Given the description of an element on the screen output the (x, y) to click on. 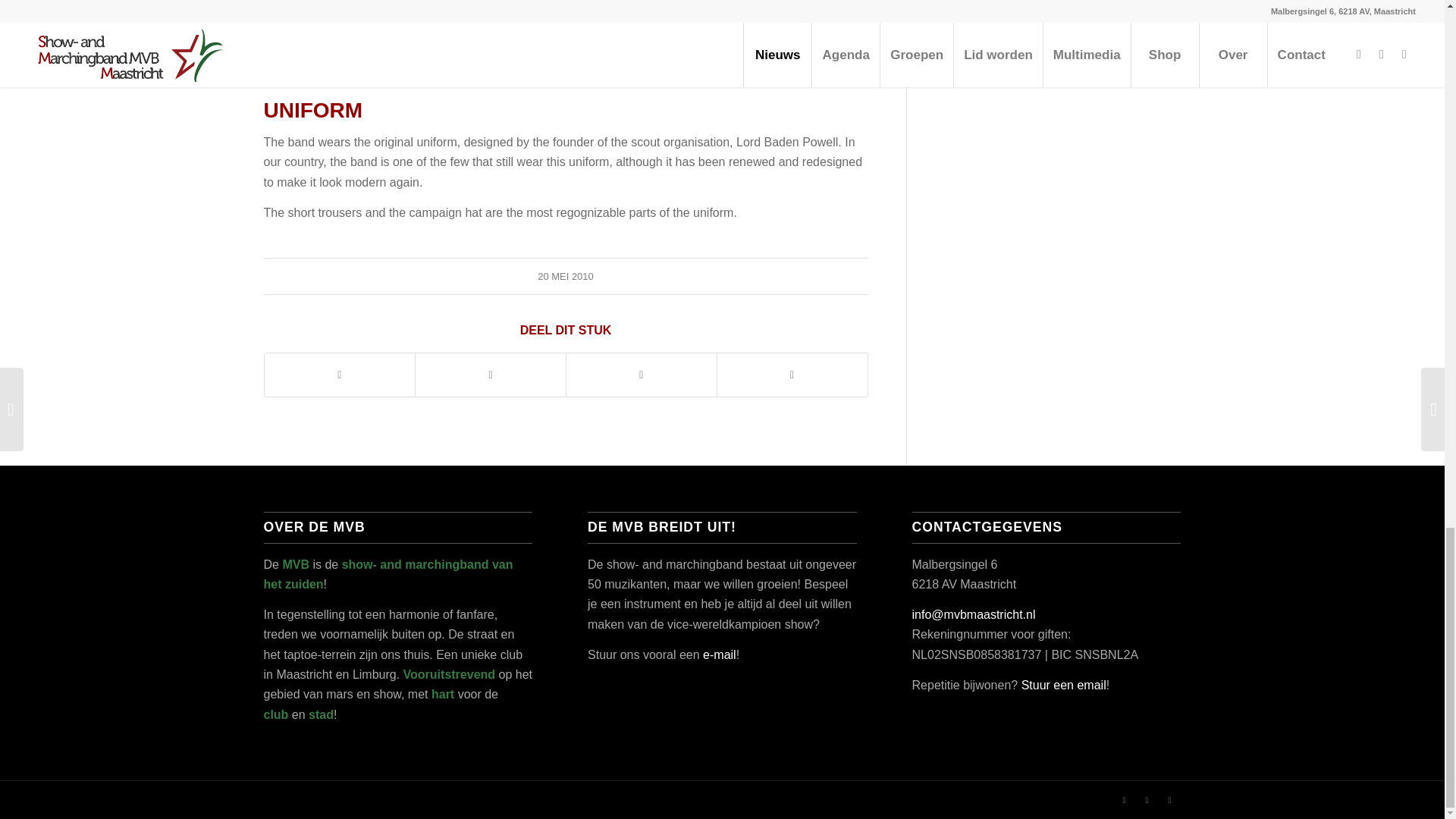
Facebook (1124, 799)
e-mail (719, 654)
Instagram (1146, 799)
Stuur een email (1064, 684)
Youtube (1169, 799)
